Given the description of an element on the screen output the (x, y) to click on. 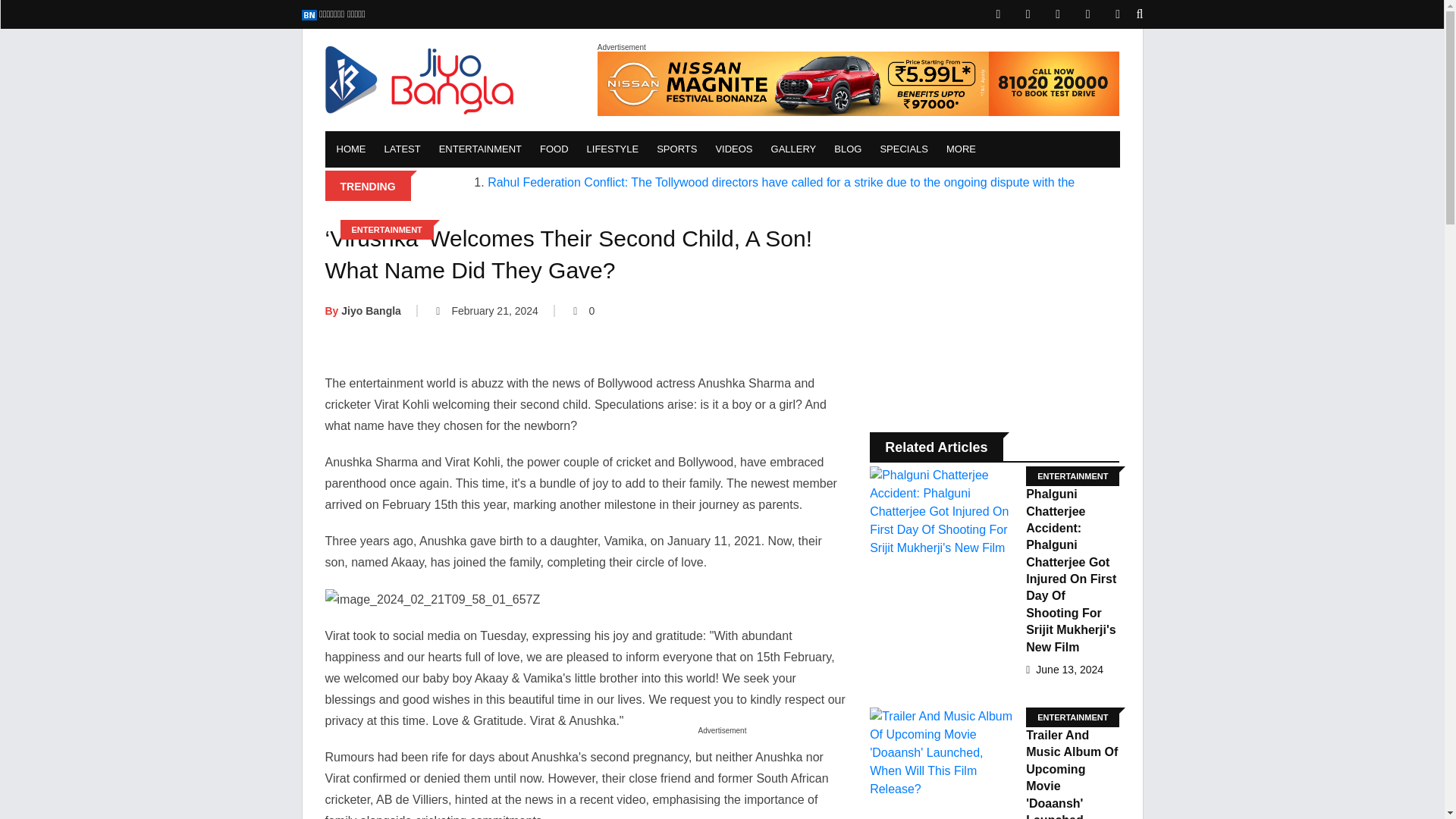
Twitter (1057, 14)
VIDEOS (733, 149)
HOME (355, 149)
ENTERTAINMENT (480, 149)
FOOD (554, 149)
Youtube (1117, 14)
Instagram (1088, 14)
LATEST (401, 149)
